Given the description of an element on the screen output the (x, y) to click on. 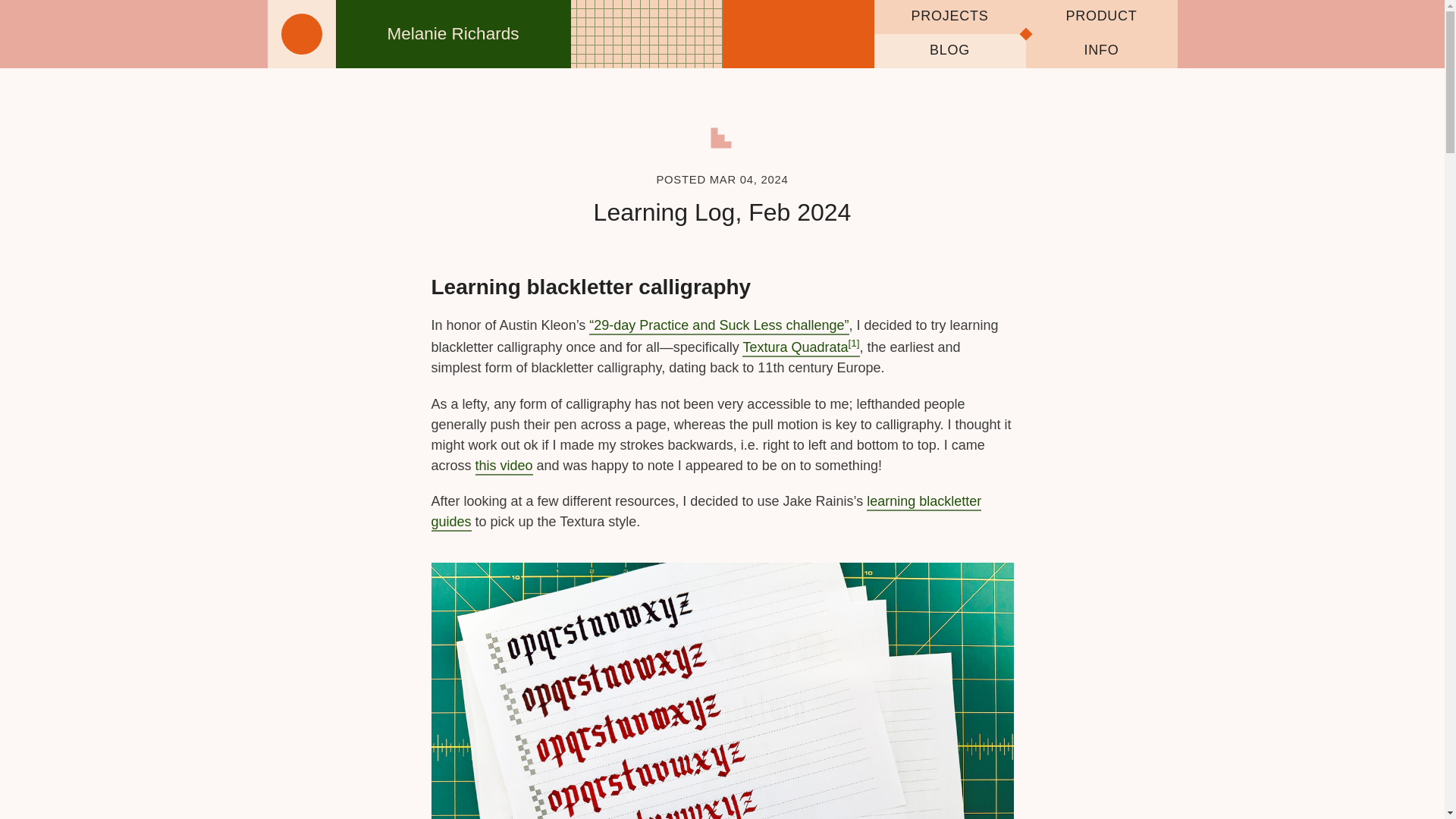
INFO (1100, 50)
PROJECTS (949, 17)
Textura Quadrata (800, 348)
BLOG (949, 50)
PRODUCT (1100, 17)
Melanie Richards (418, 33)
learning blackletter guides (705, 512)
this video (504, 466)
